Given the description of an element on the screen output the (x, y) to click on. 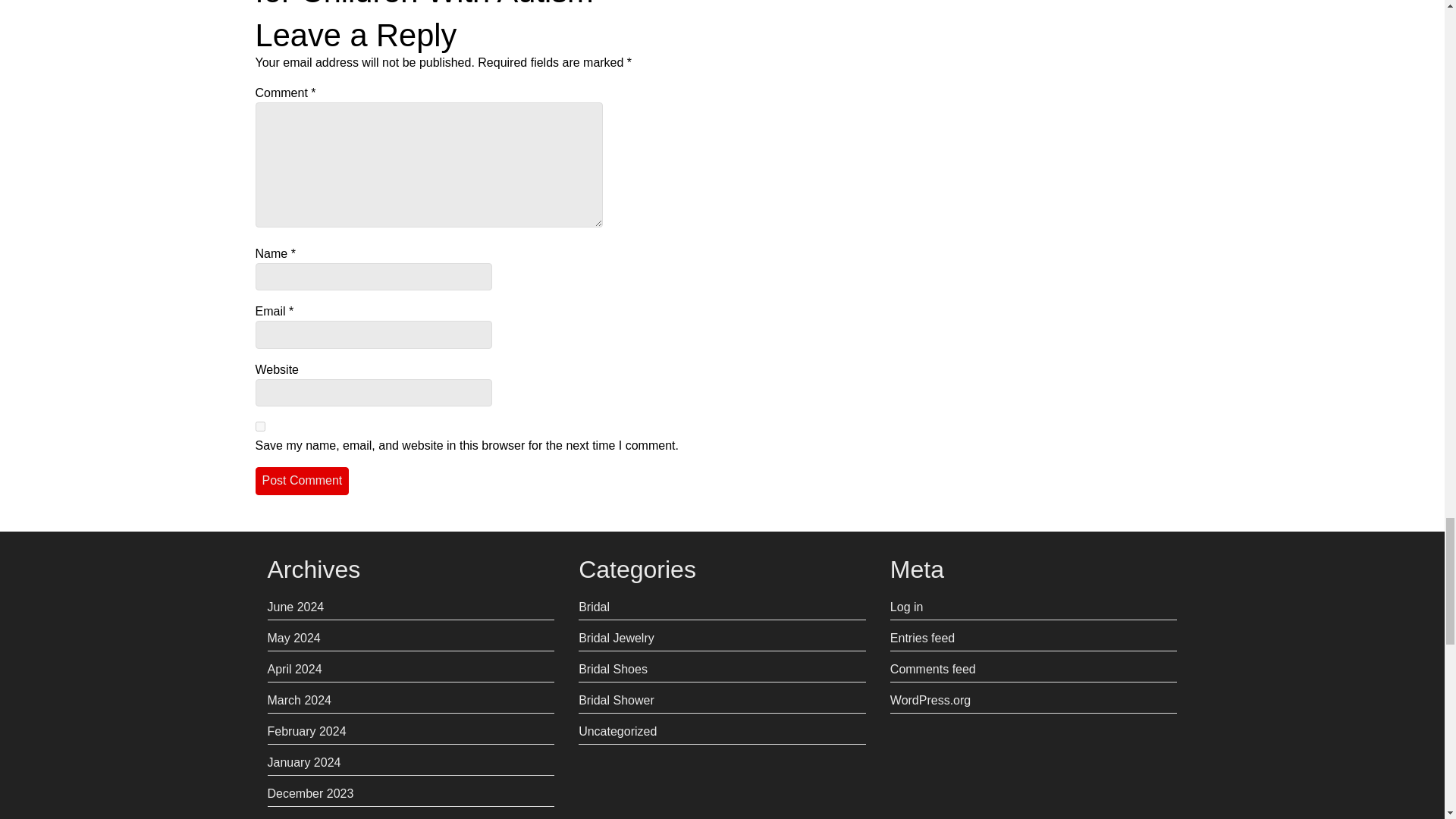
February 2024 (306, 730)
March 2024 (298, 699)
December 2023 (309, 793)
May 2024 (293, 637)
June 2024 (294, 606)
yes (259, 426)
April 2024 (293, 668)
January 2024 (303, 762)
Post Comment (301, 480)
